Given the description of an element on the screen output the (x, y) to click on. 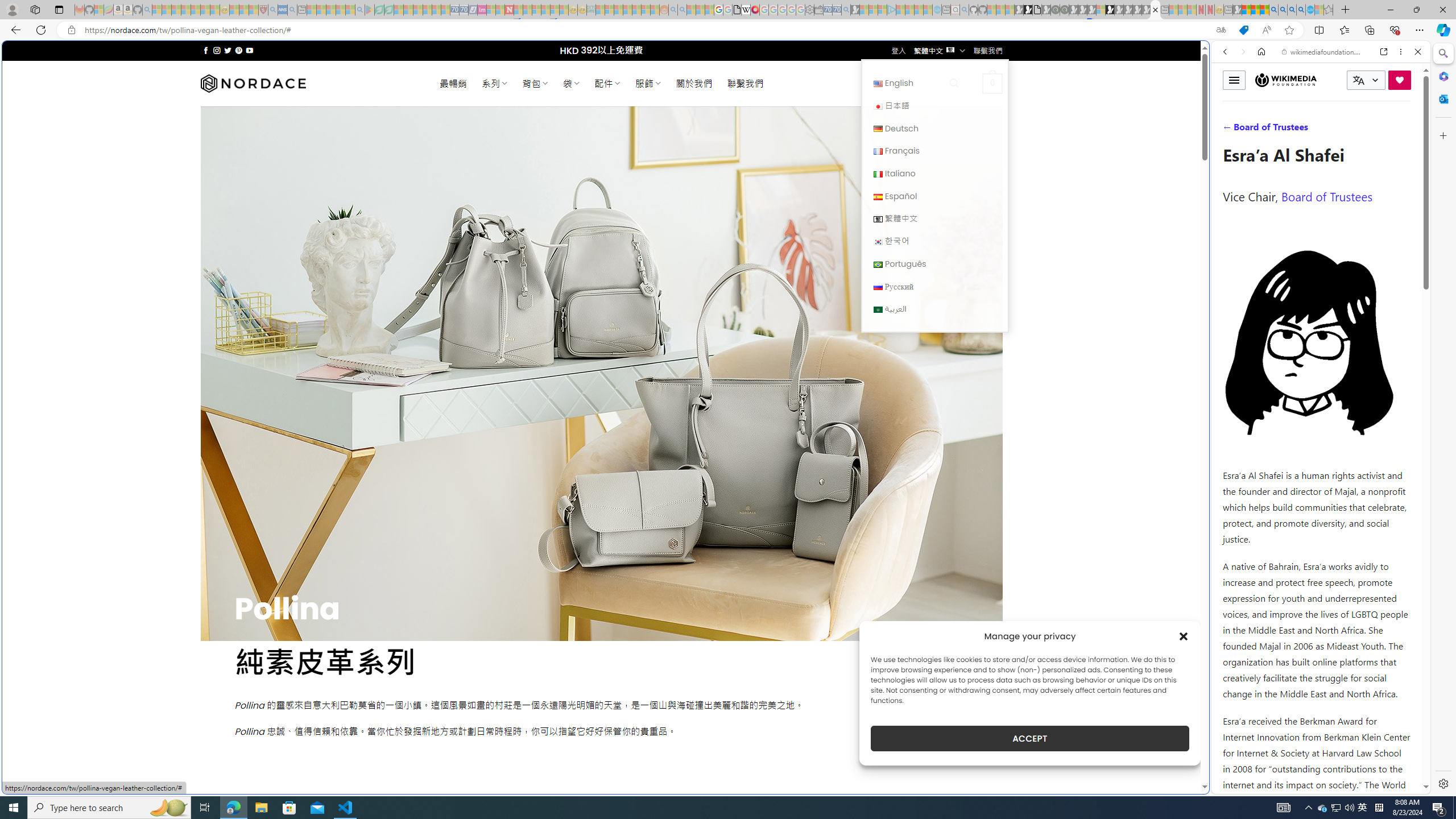
Favorites - Sleeping (1328, 9)
Toggle menu (1233, 80)
Wikimedia Foundation (1285, 79)
 0  (992, 83)
